Given the description of an element on the screen output the (x, y) to click on. 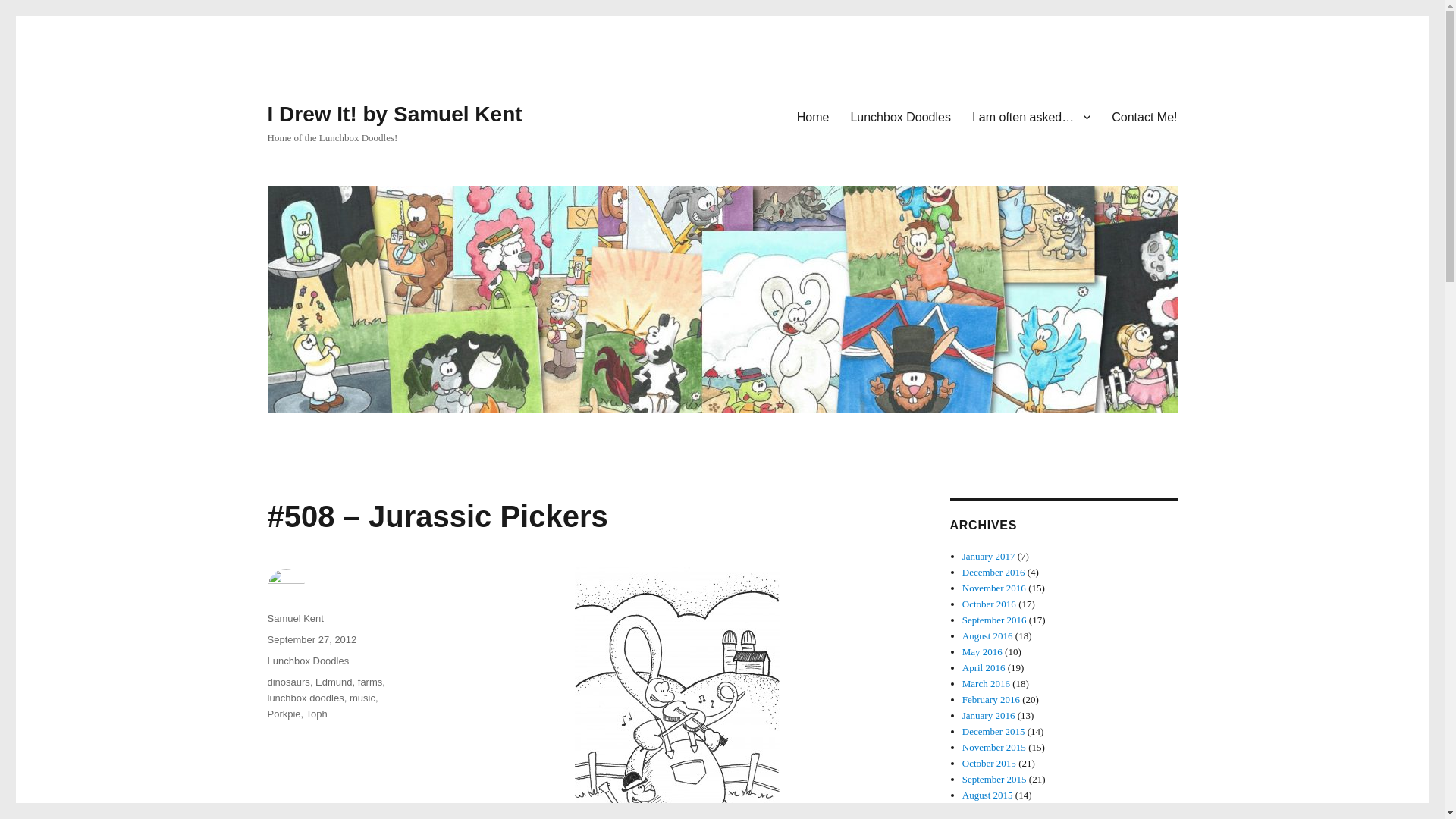
Lunchbox Doodles (900, 116)
dinosaurs (287, 681)
Jurassic Pickers (676, 693)
music (362, 697)
Porkpie (282, 713)
August 2016 (987, 635)
February 2016 (991, 699)
January 2016 (988, 715)
Contact Me! (1144, 116)
September 27, 2012 (311, 639)
farms (370, 681)
Toph (316, 713)
Edmund (333, 681)
April 2016 (984, 667)
December 2015 (993, 731)
